Given the description of an element on the screen output the (x, y) to click on. 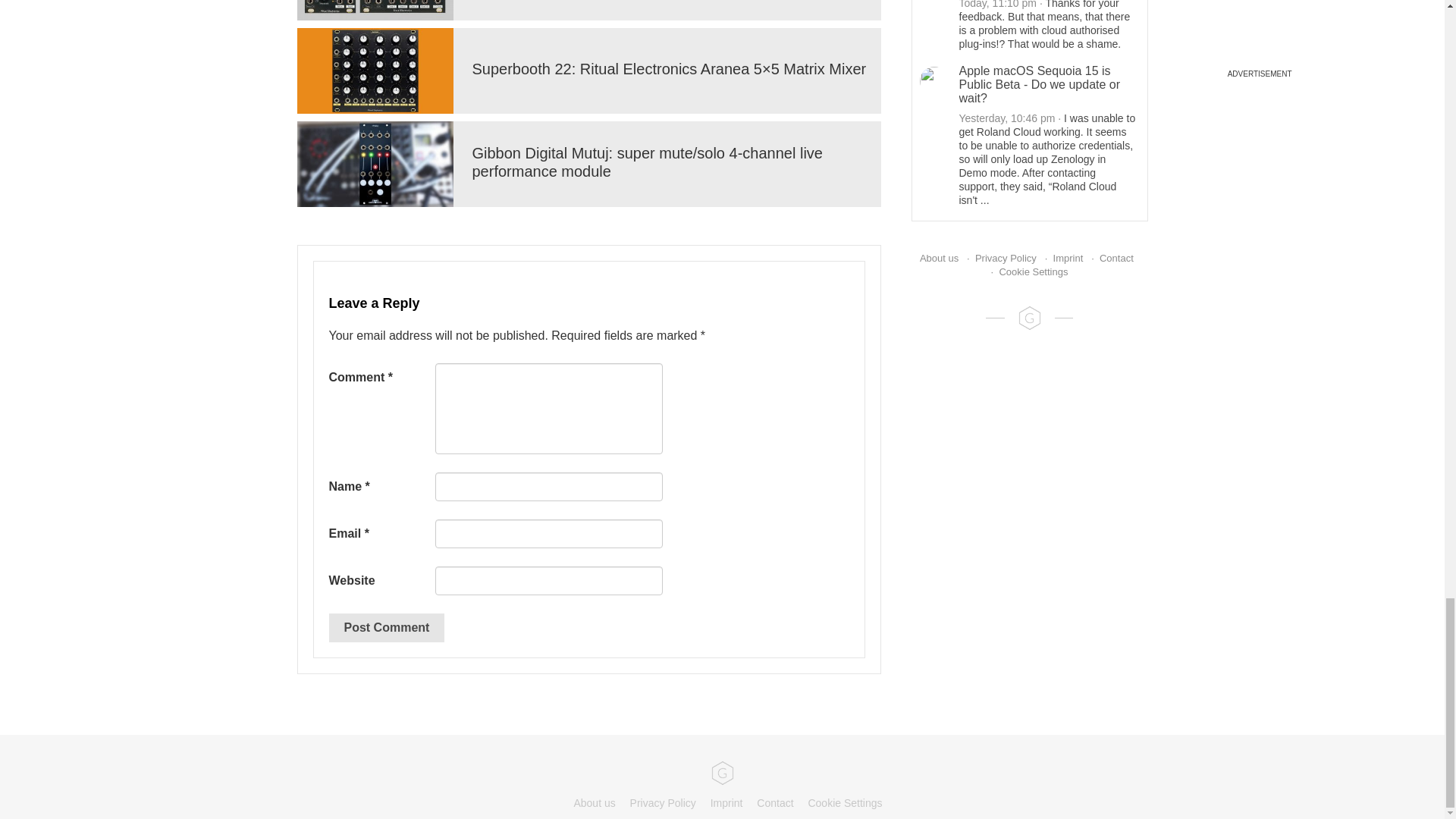
Post Comment (387, 627)
